Given the description of an element on the screen output the (x, y) to click on. 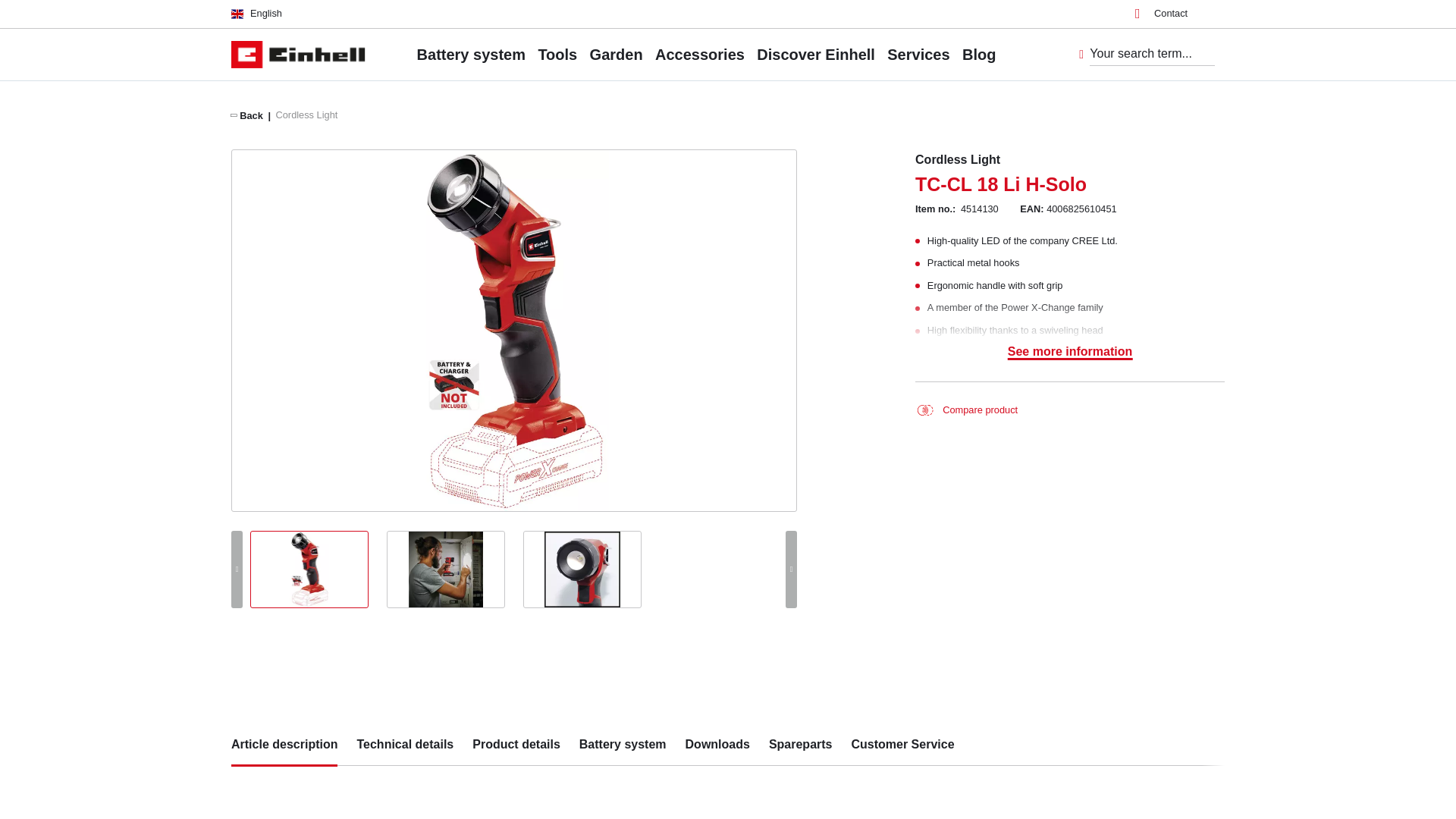
Garden (616, 54)
Contact (1161, 13)
Battery system (470, 54)
